Given the description of an element on the screen output the (x, y) to click on. 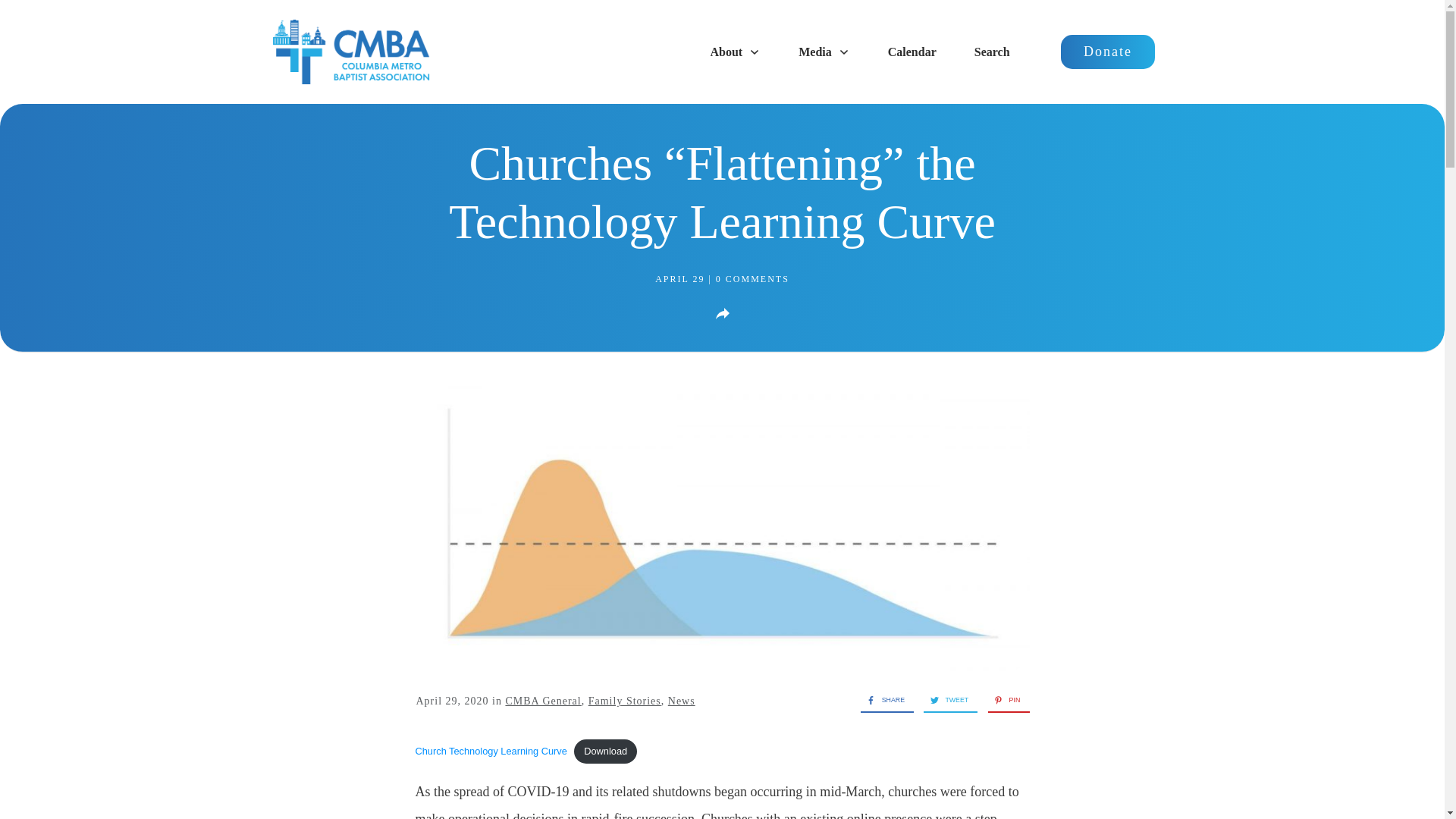
CMBA General (542, 700)
News (681, 700)
Donate (1107, 52)
Search (992, 52)
Media (823, 52)
SHARE (882, 700)
TWEET (945, 700)
About (735, 52)
Family Stories (624, 700)
APRIL 29 (681, 278)
0 COMMENTS (752, 278)
Calendar (912, 52)
Download (605, 751)
PIN (1004, 700)
CMBA General (542, 700)
